Given the description of an element on the screen output the (x, y) to click on. 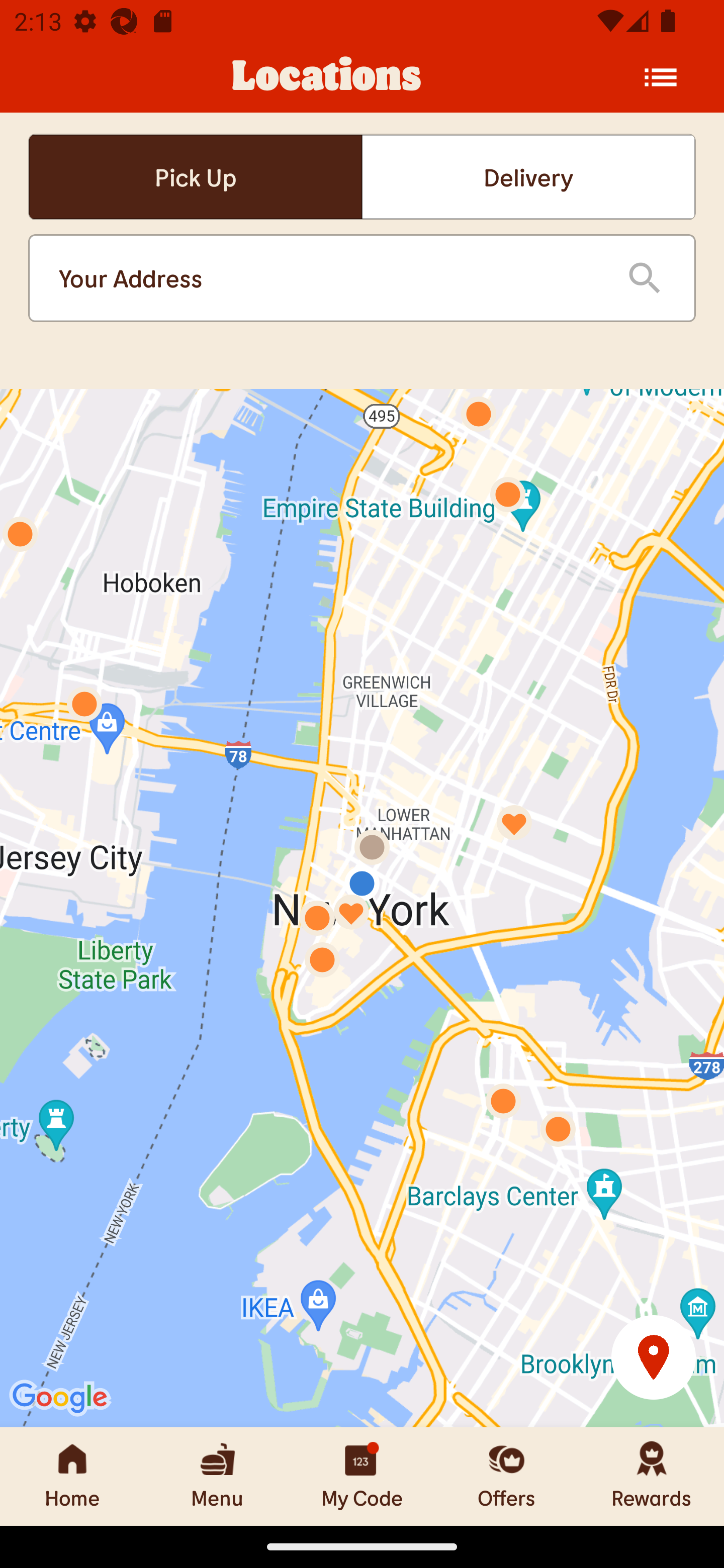
List  (660, 77)
Locations (326, 77)
Pick UpSelected Pick UpSelected Pick Up (195, 176)
Delivery Delivery Delivery (528, 176)
Your Address (327, 277)
Home (72, 1475)
Menu (216, 1475)
My Code (361, 1475)
Offers (506, 1475)
Rewards (651, 1475)
